Given the description of an element on the screen output the (x, y) to click on. 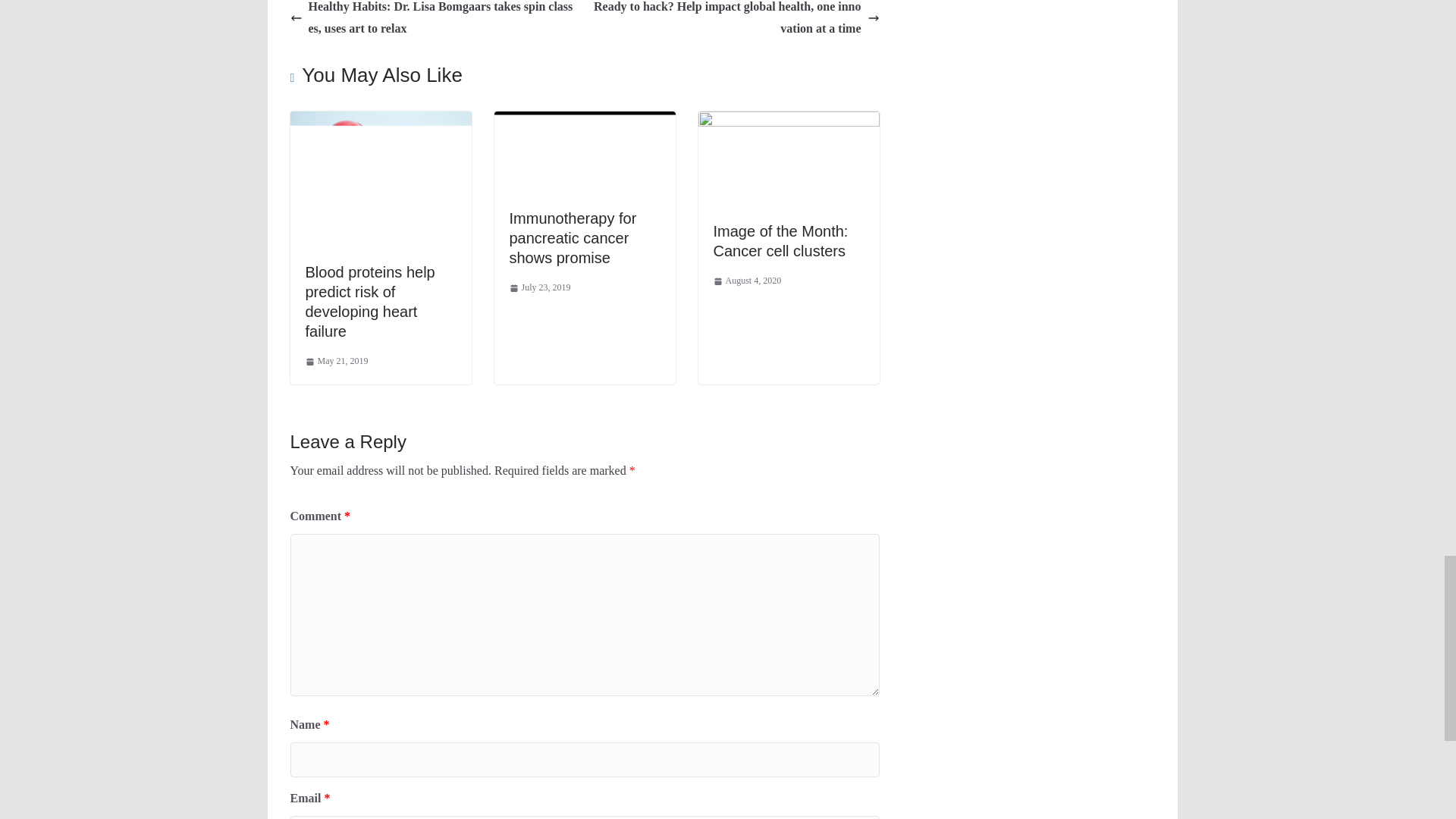
10:00 am (336, 361)
Blood proteins help predict risk of developing heart failure (368, 301)
Blood proteins help predict risk of developing heart failure (379, 121)
